Given the description of an element on the screen output the (x, y) to click on. 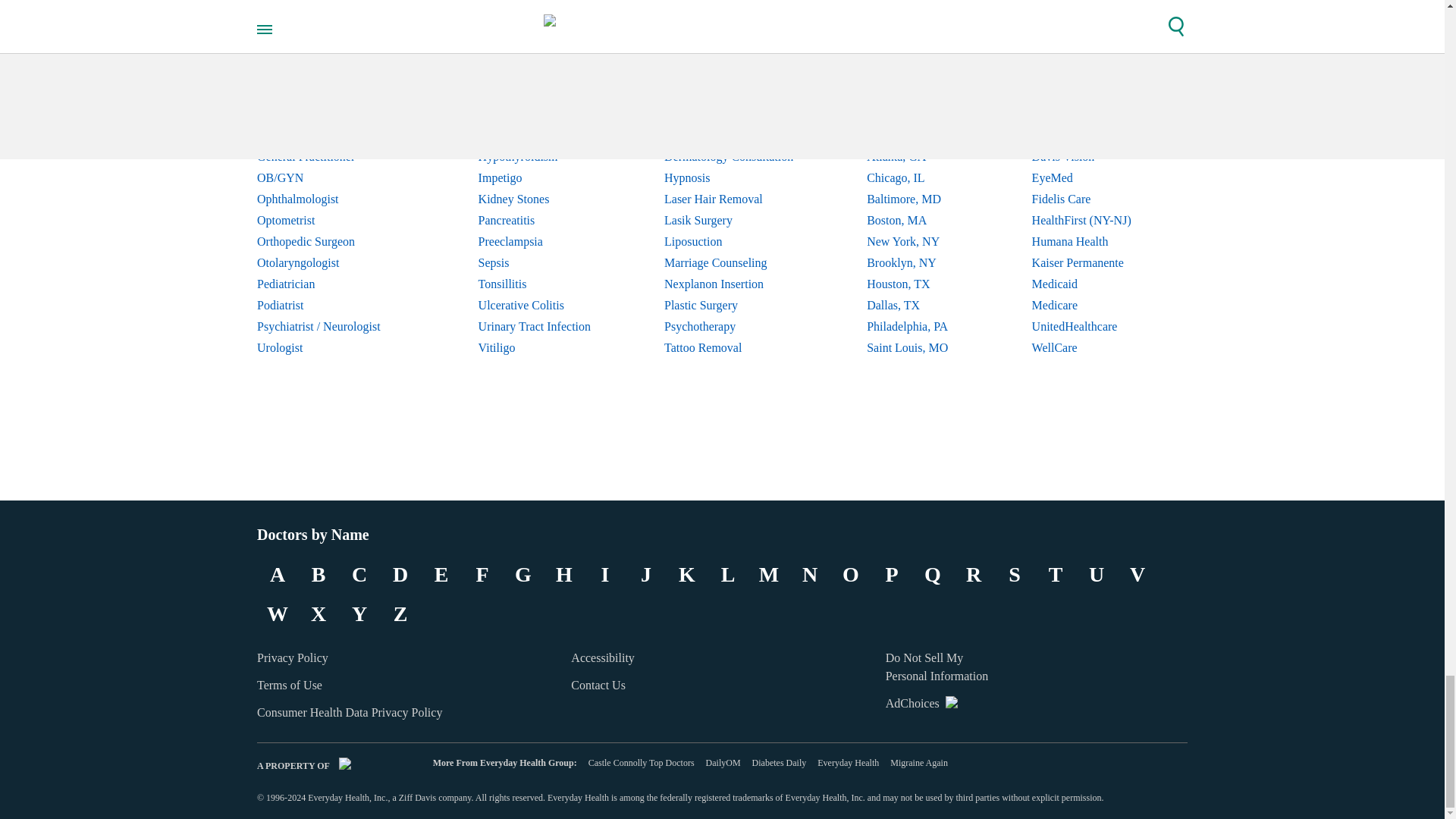
Podiatrist (330, 305)
Cold Sores (535, 71)
Addiction Medicine Specialist (330, 50)
Preeclampsia (535, 241)
Hemorrhoids (535, 135)
Orthopedic Surgeon (330, 241)
Otolaryngologist (330, 262)
Urologist (330, 347)
Gastroenterologist (330, 135)
Cardiologist (330, 71)
